Given the description of an element on the screen output the (x, y) to click on. 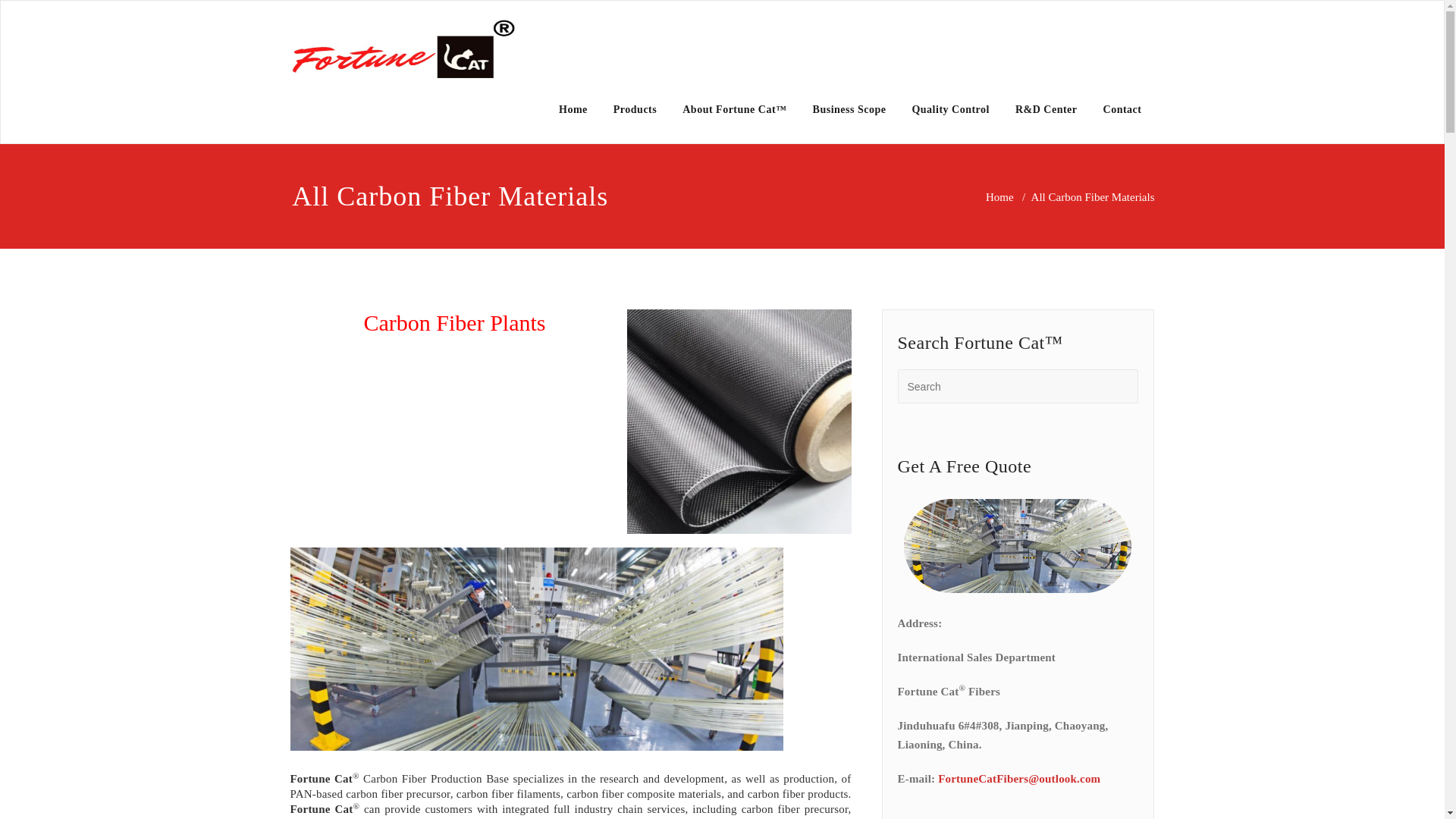
Home (572, 109)
Home (999, 196)
Contact (1122, 109)
fortune cat yarn logo (402, 48)
Business Scope (849, 109)
Products (634, 109)
Quality Control (950, 109)
